Given the description of an element on the screen output the (x, y) to click on. 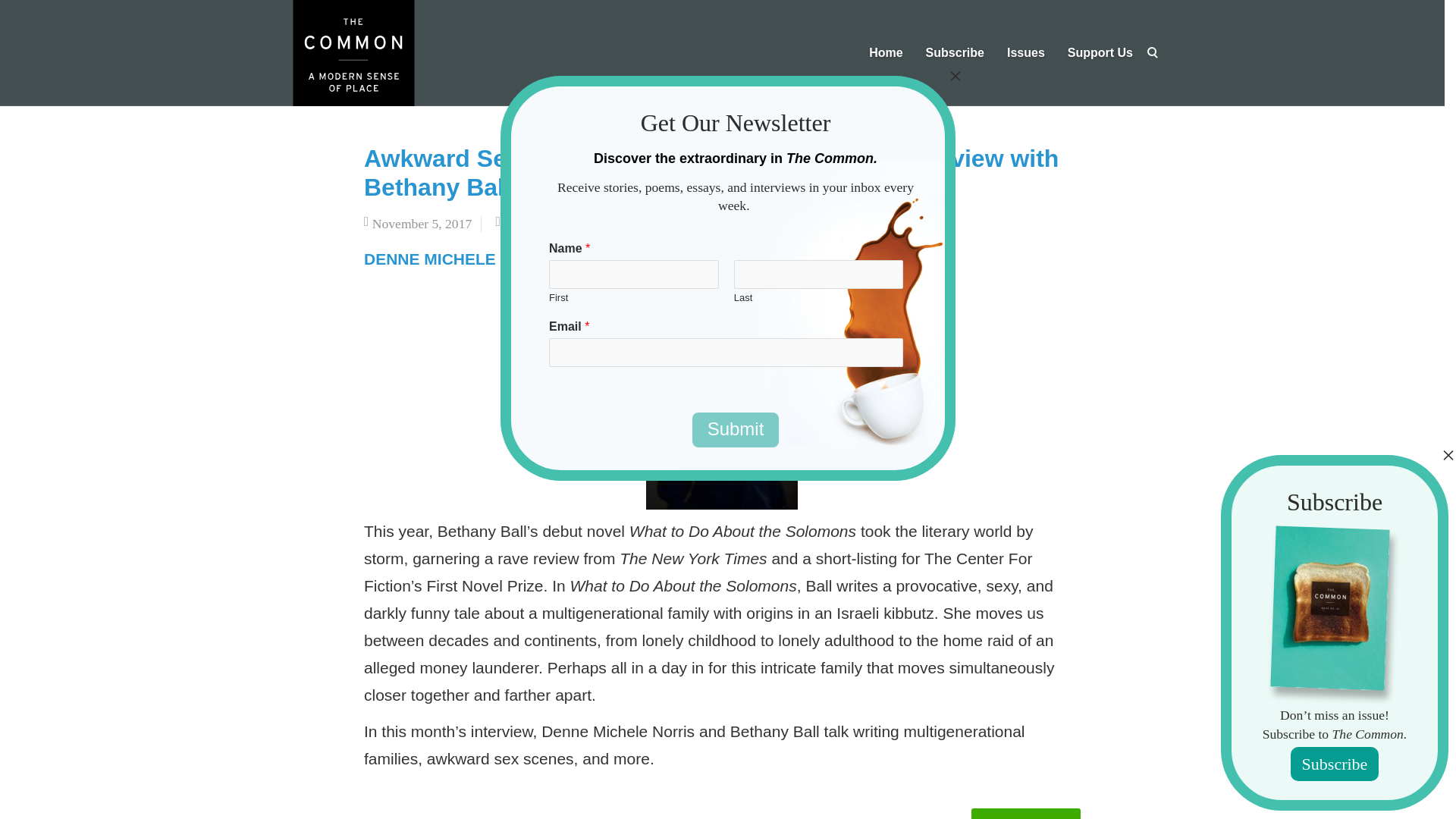
BETHANY BALL (703, 258)
DENNE MICHELE NORRIS (463, 258)
Read more... (1025, 813)
Interviews (531, 223)
